Given the description of an element on the screen output the (x, y) to click on. 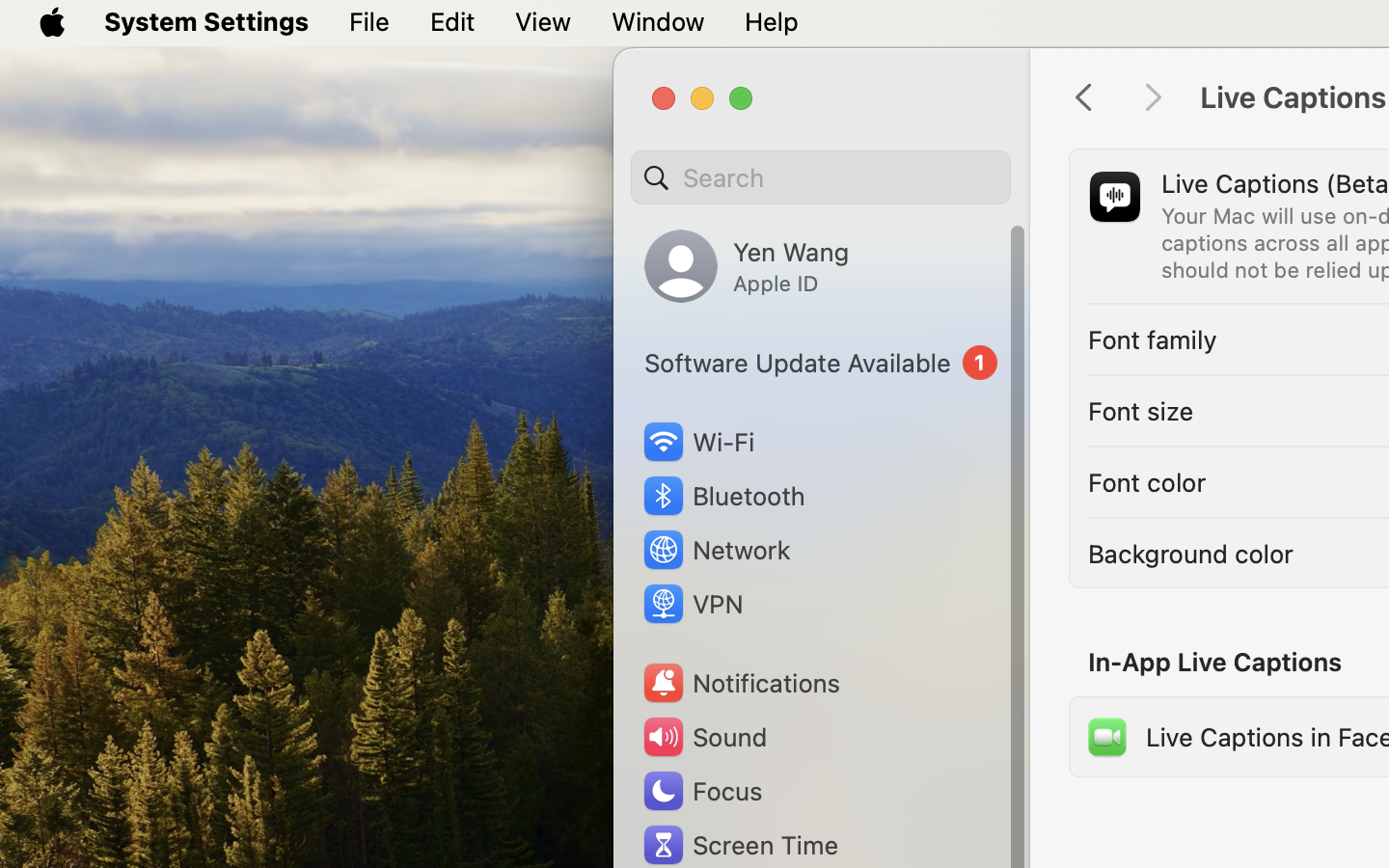
1 Element type: AXStaticText (820, 362)
VPN Element type: AXStaticText (691, 603)
Bluetooth Element type: AXStaticText (723, 495)
Sound Element type: AXStaticText (703, 736)
